Given the description of an element on the screen output the (x, y) to click on. 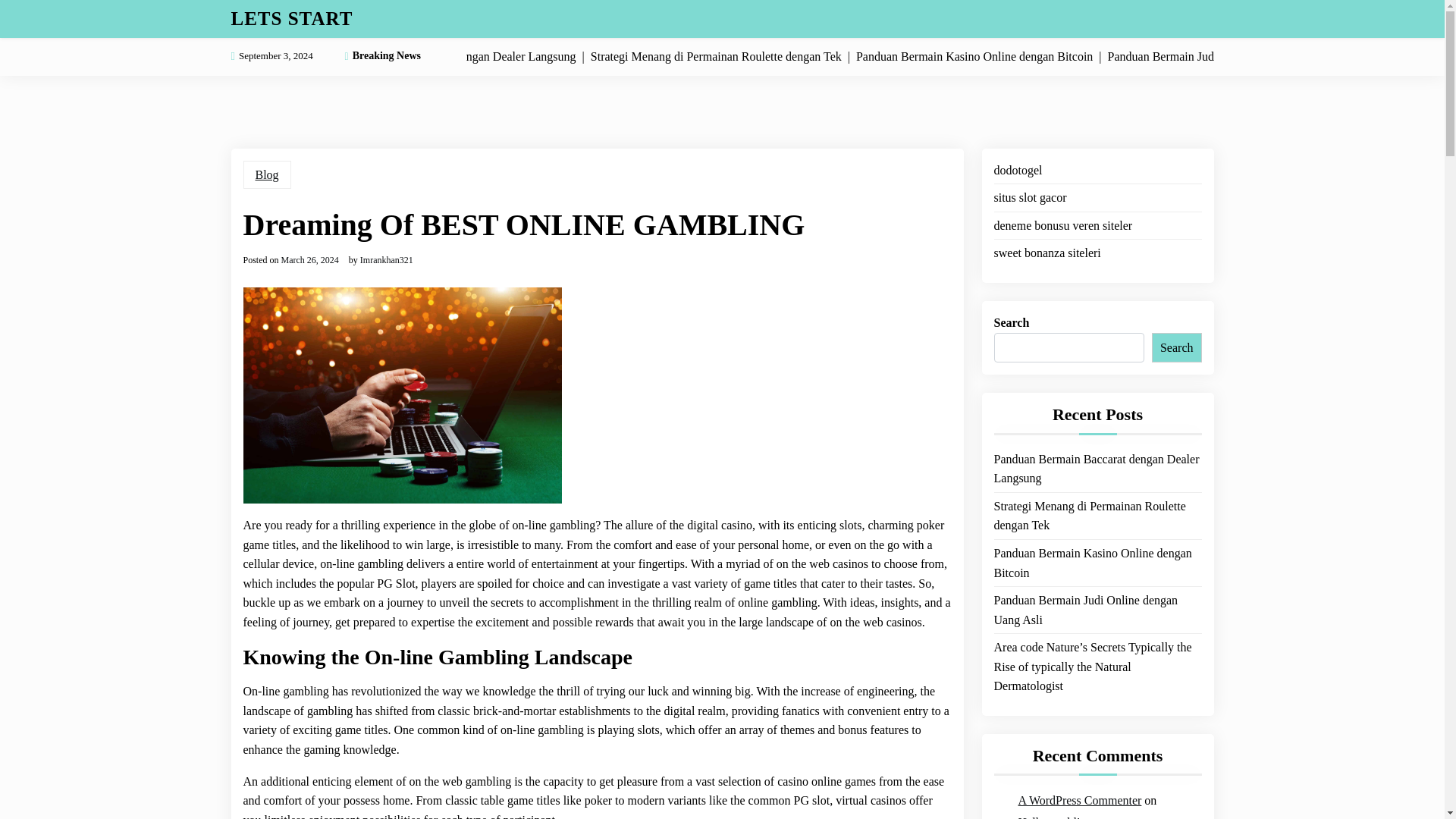
Panduan Bermain Judi Online dengan Uang Asli (1096, 609)
Search (1176, 347)
Imrankhan321 (386, 259)
March 26, 2024 (310, 259)
Panduan Bermain Baccarat dengan Dealer Langsung (1096, 468)
Blog (266, 174)
situs slot gacor (1028, 198)
dodotogel (1017, 170)
Panduan Bermain Kasino Online dengan Bitcoin (1096, 562)
A WordPress Commenter (1079, 801)
